Given the description of an element on the screen output the (x, y) to click on. 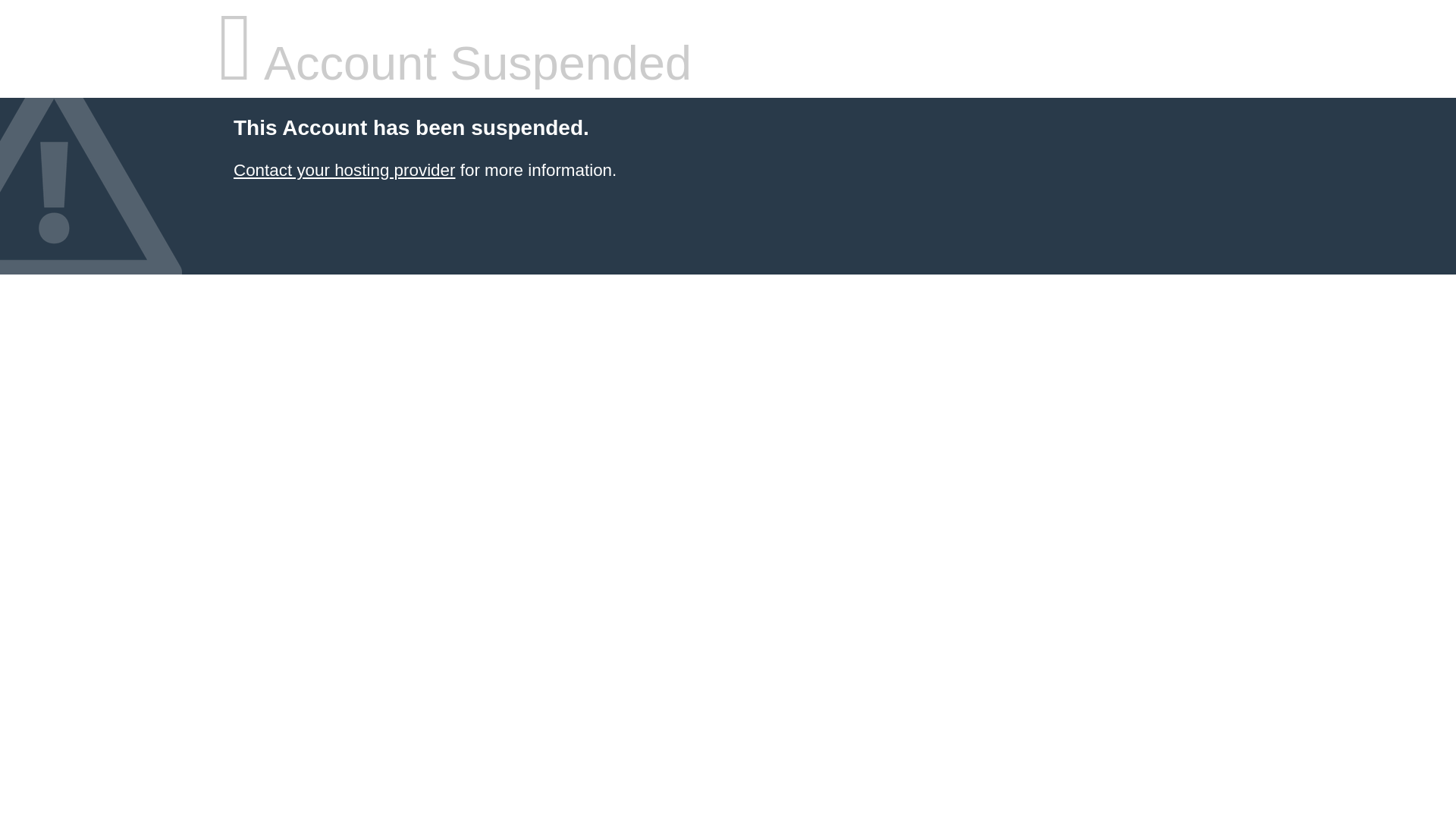
Contact your hosting provider (343, 169)
